Given the description of an element on the screen output the (x, y) to click on. 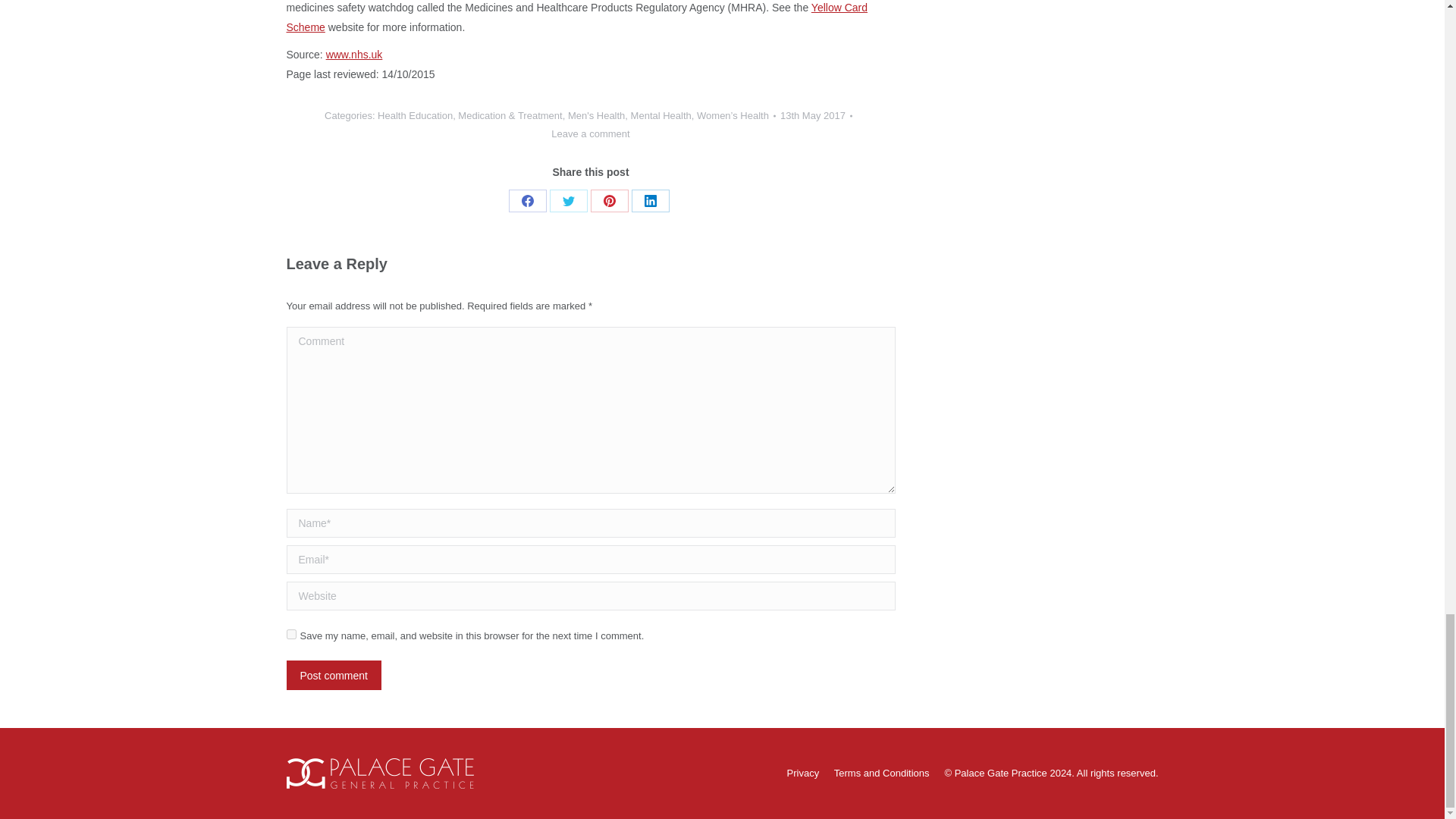
LinkedIn (650, 200)
Twitter (569, 200)
Facebook (527, 200)
Pinterest (609, 200)
8:27 am (815, 116)
yes (291, 634)
